Given the description of an element on the screen output the (x, y) to click on. 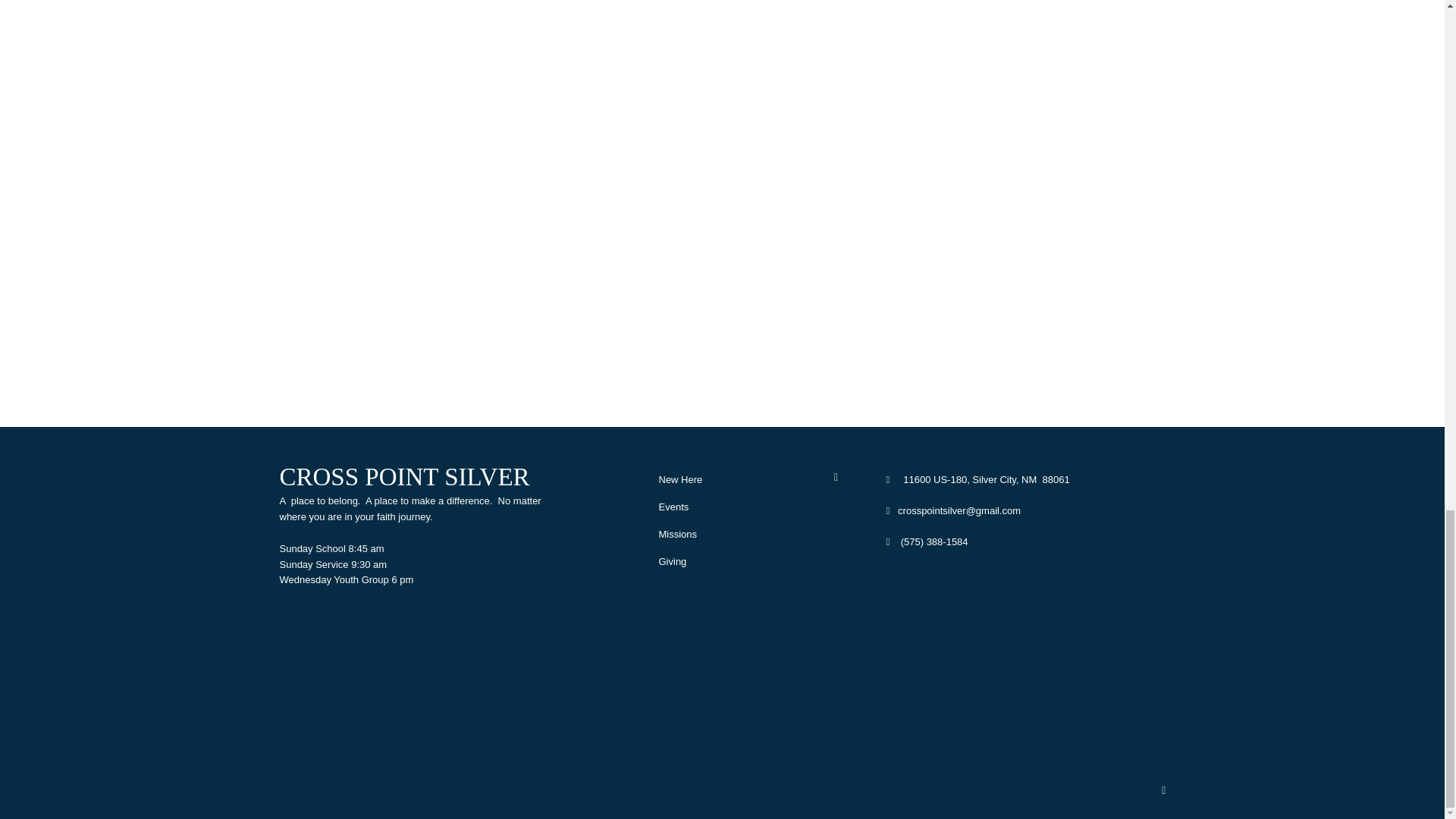
Giving (671, 561)
New Here (679, 479)
Events (673, 506)
Missions (677, 533)
